Given the description of an element on the screen output the (x, y) to click on. 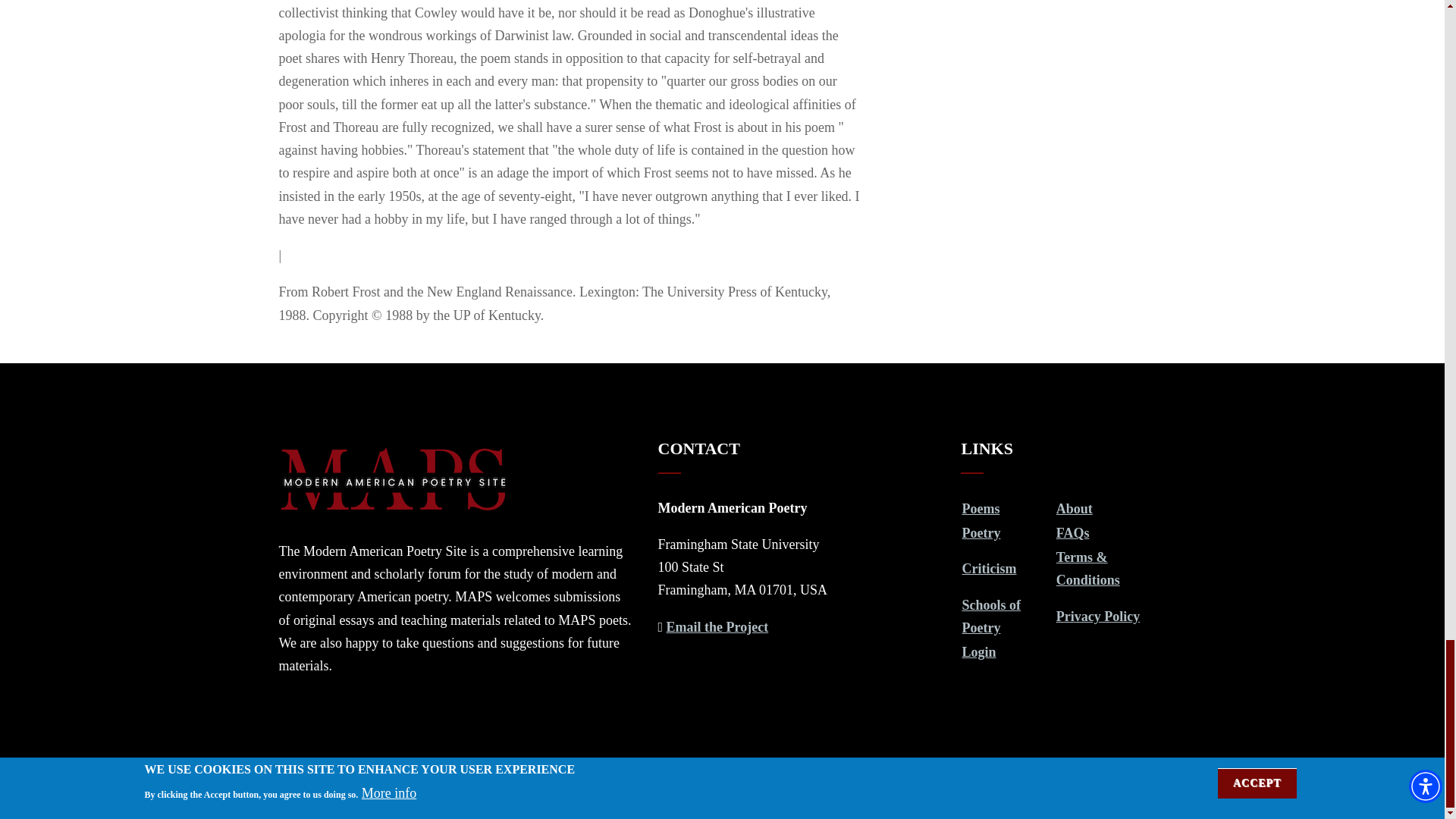
Criticism (988, 568)
Email the Project (717, 626)
About (1075, 508)
Login (977, 652)
Poetry (980, 532)
Poems (979, 508)
FAQs (1073, 532)
Privacy Policy (1098, 616)
Schools of Poetry (990, 616)
